Given the description of an element on the screen output the (x, y) to click on. 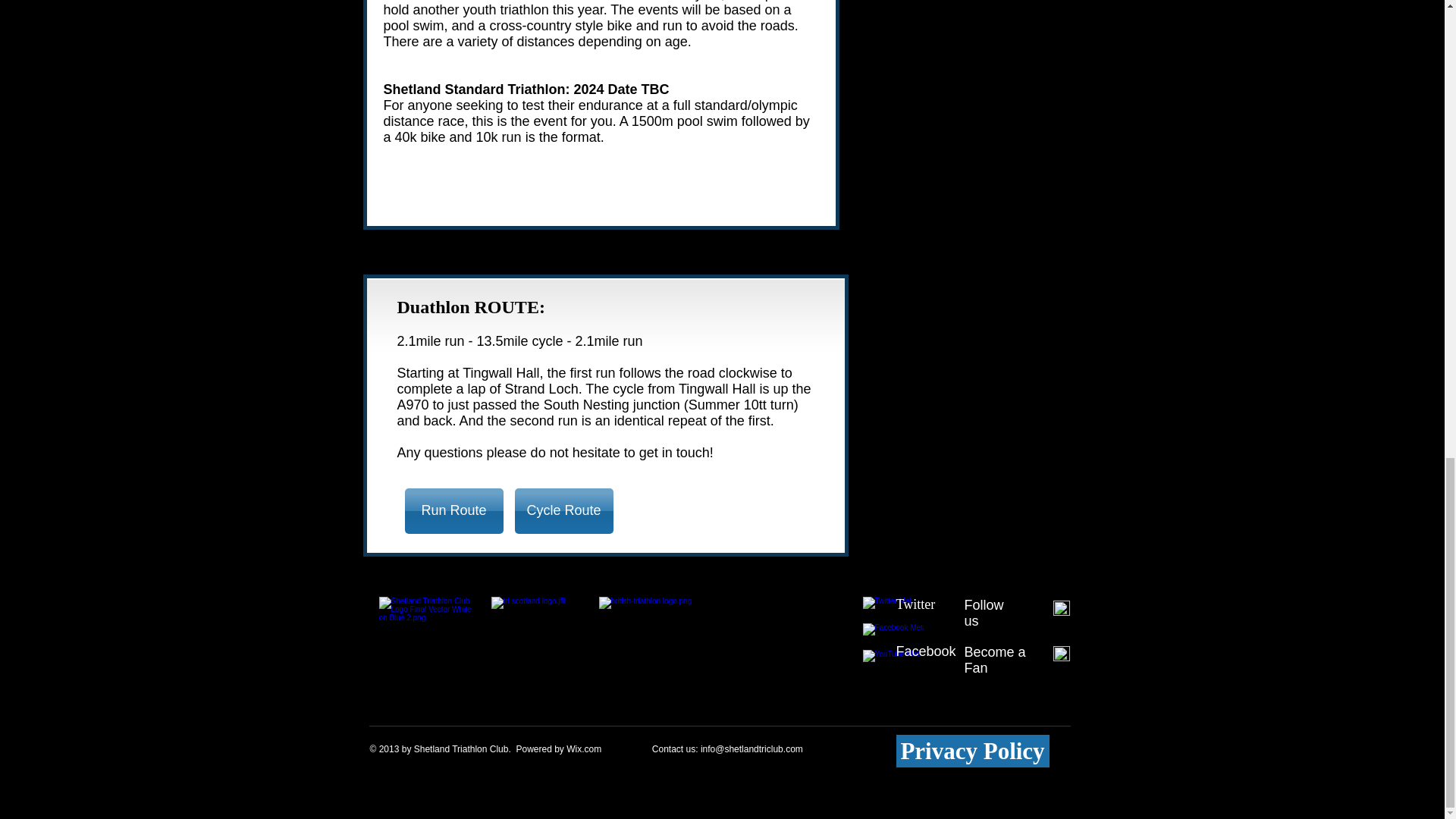
Wix.com (583, 748)
Unknown.jpeg (684, 644)
triscot.jpg (539, 644)
STClogo.JPG (425, 644)
Cycle Route (562, 510)
Privacy Policy (972, 750)
Run Route (453, 510)
